Given the description of an element on the screen output the (x, y) to click on. 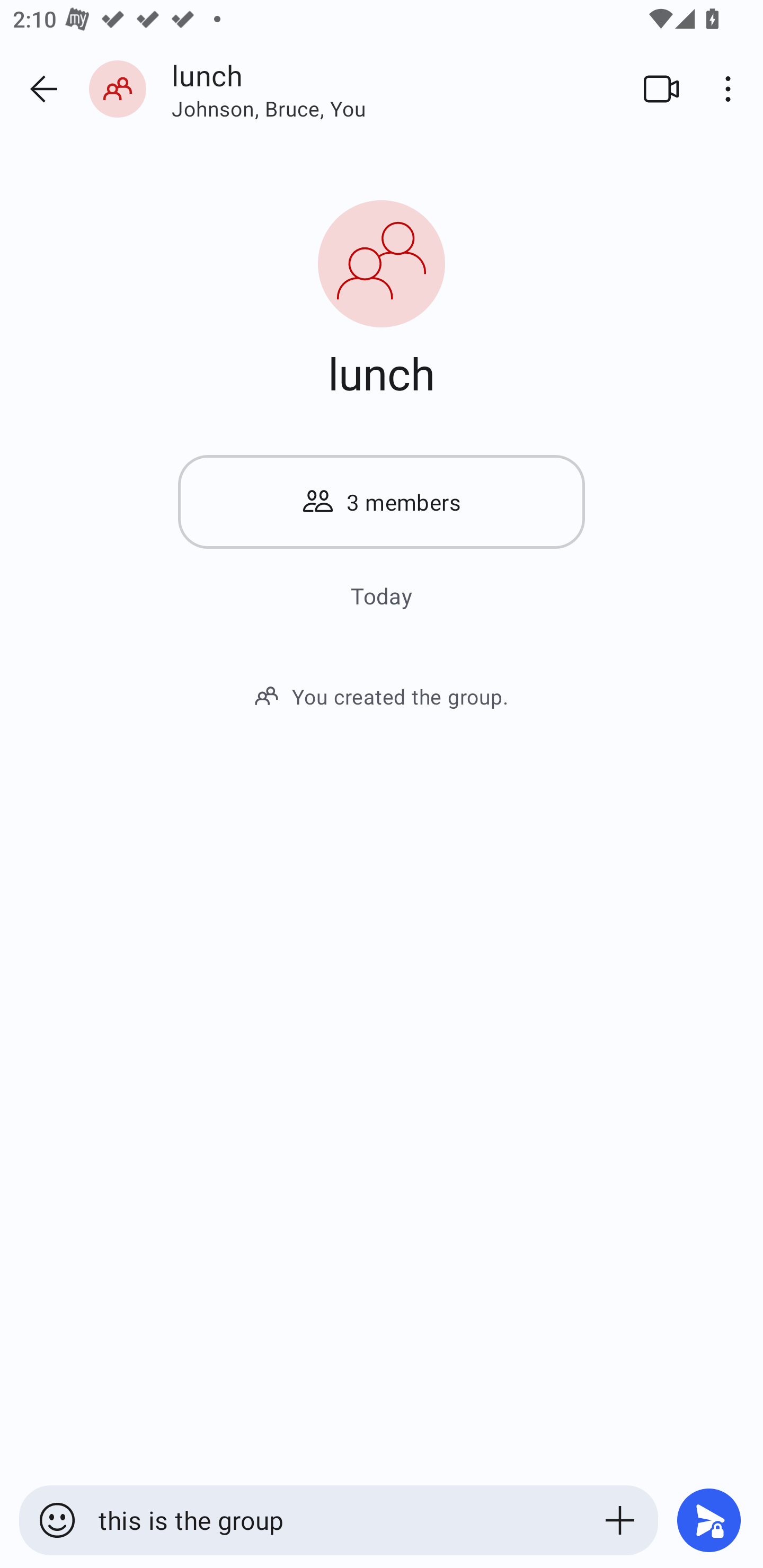
Send message (708, 1520)
